Given the description of an element on the screen output the (x, y) to click on. 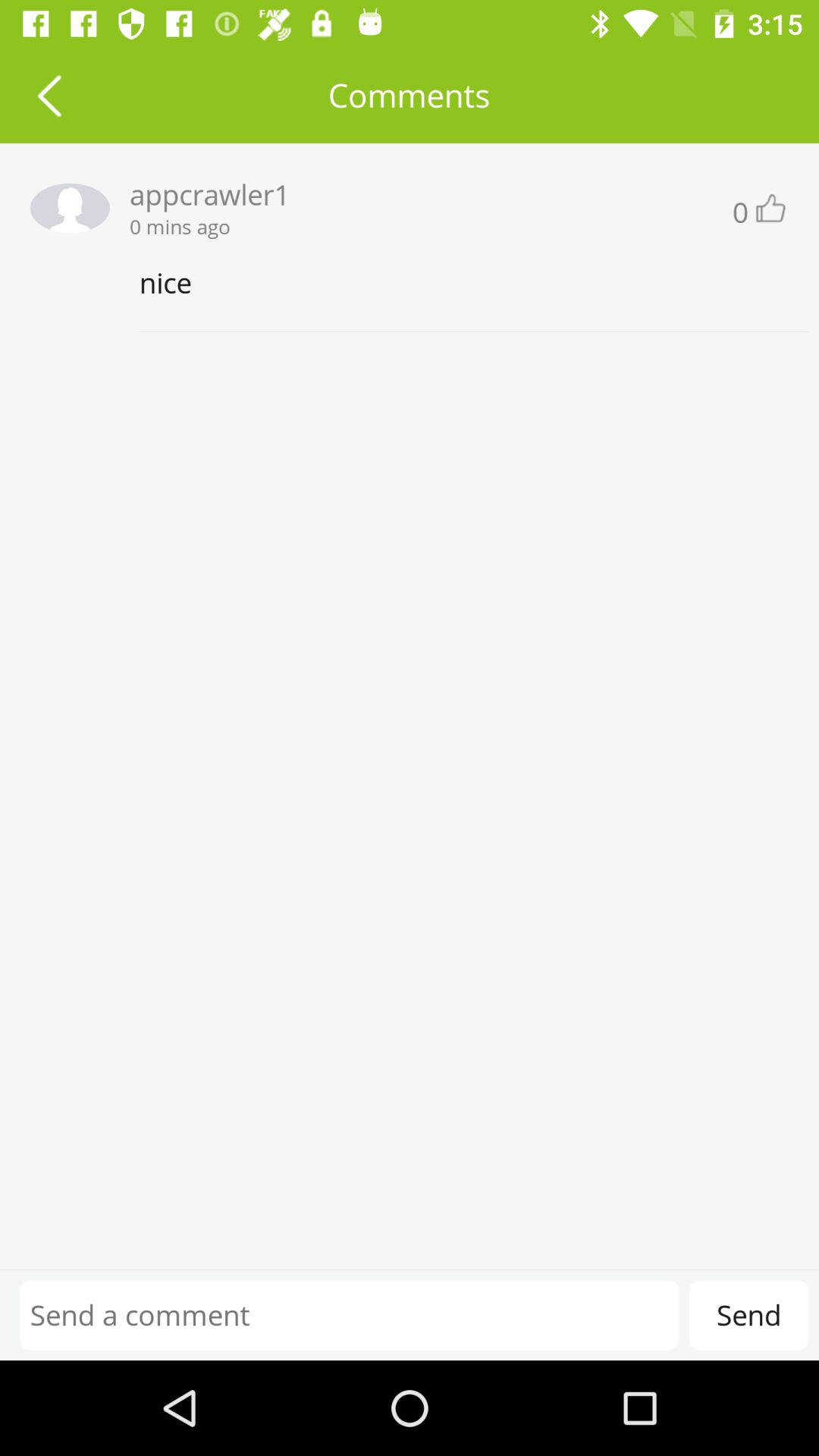
view profile settings (64, 208)
